Given the description of an element on the screen output the (x, y) to click on. 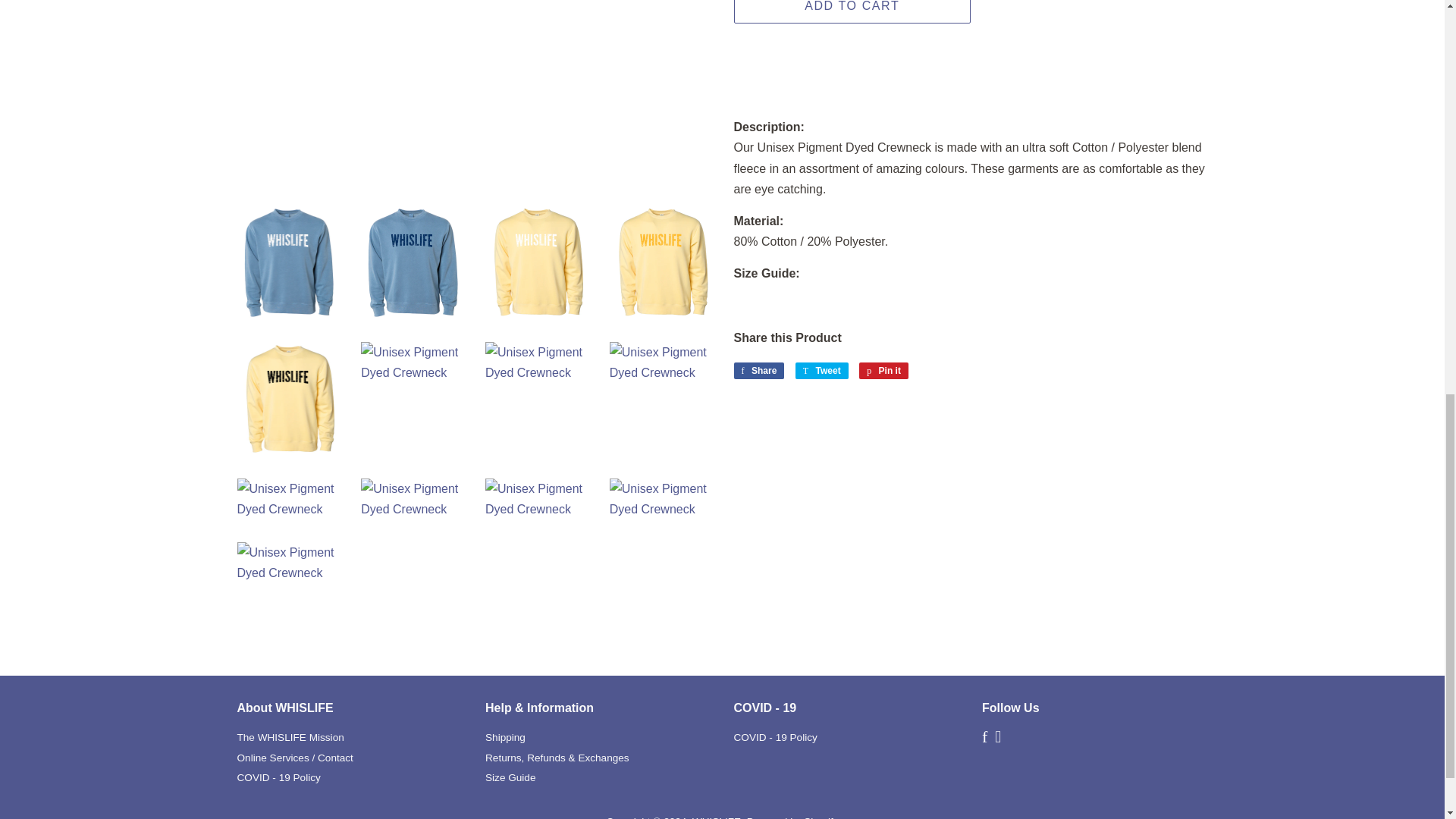
Share on Facebook (758, 370)
Pin on Pinterest (883, 370)
Tweet on Twitter (821, 370)
